Given the description of an element on the screen output the (x, y) to click on. 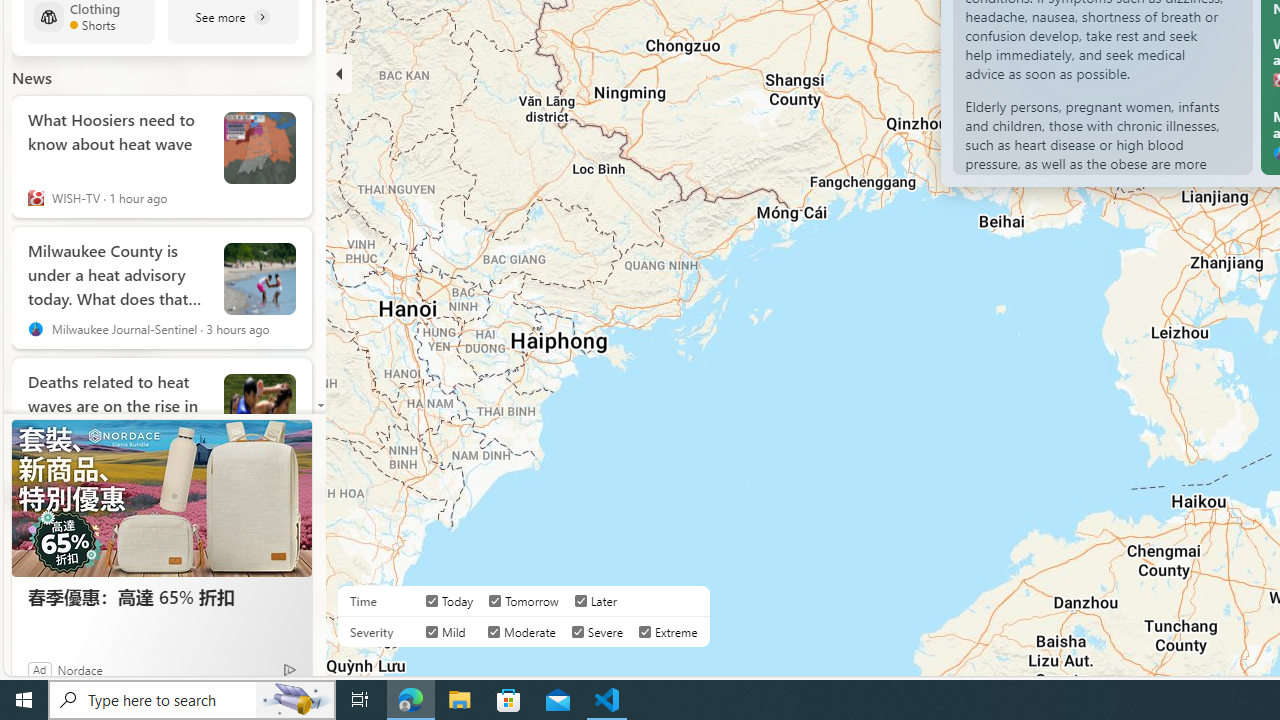
Deaths related to heat waves are on the rise in U.S. (259, 409)
What Hoosiers need to know about heat wave (117, 139)
WISH-TV (35, 197)
What Hoosiers need to know about heat wave (259, 148)
